Given the description of an element on the screen output the (x, y) to click on. 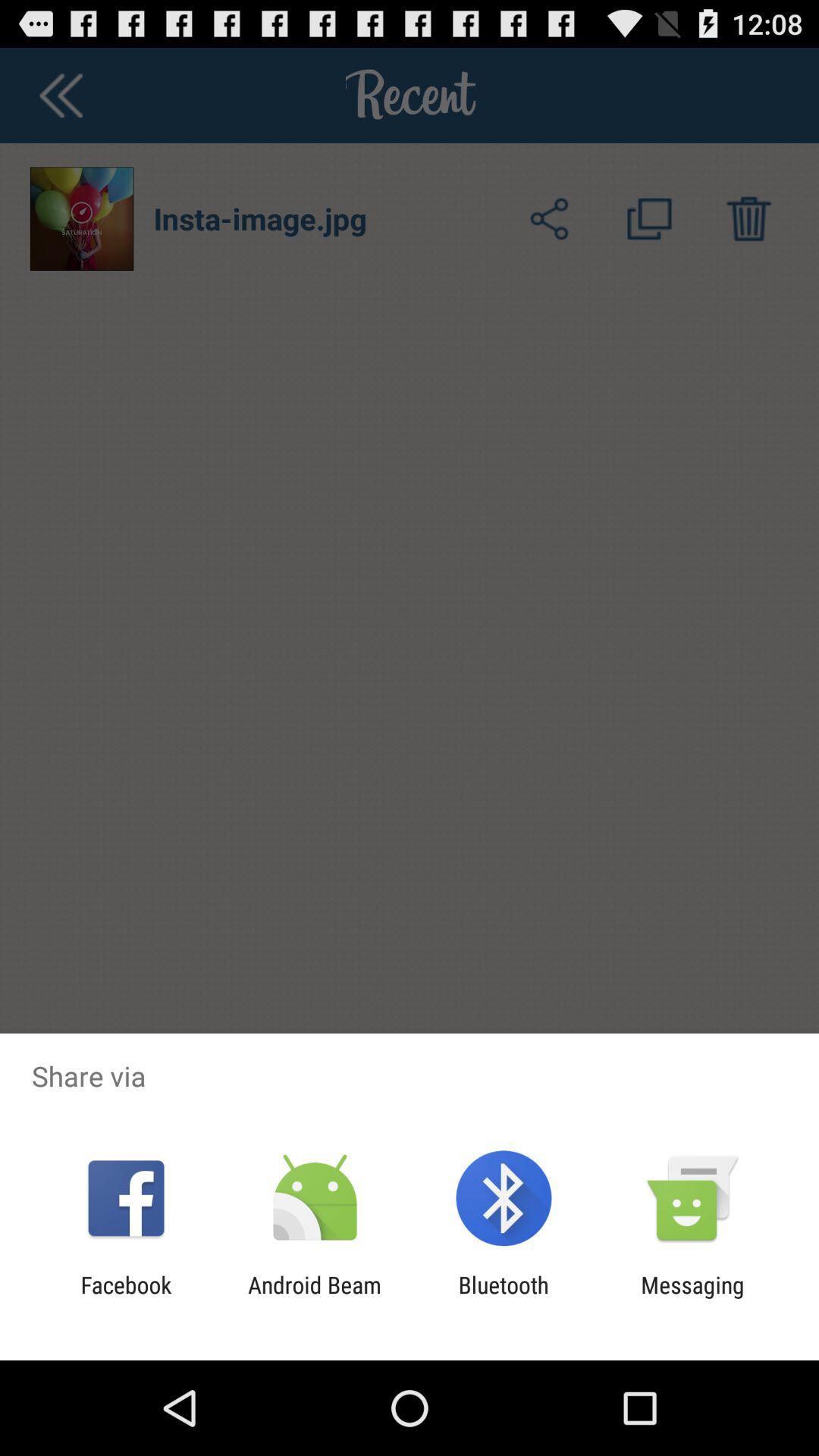
click the android beam icon (314, 1298)
